Given the description of an element on the screen output the (x, y) to click on. 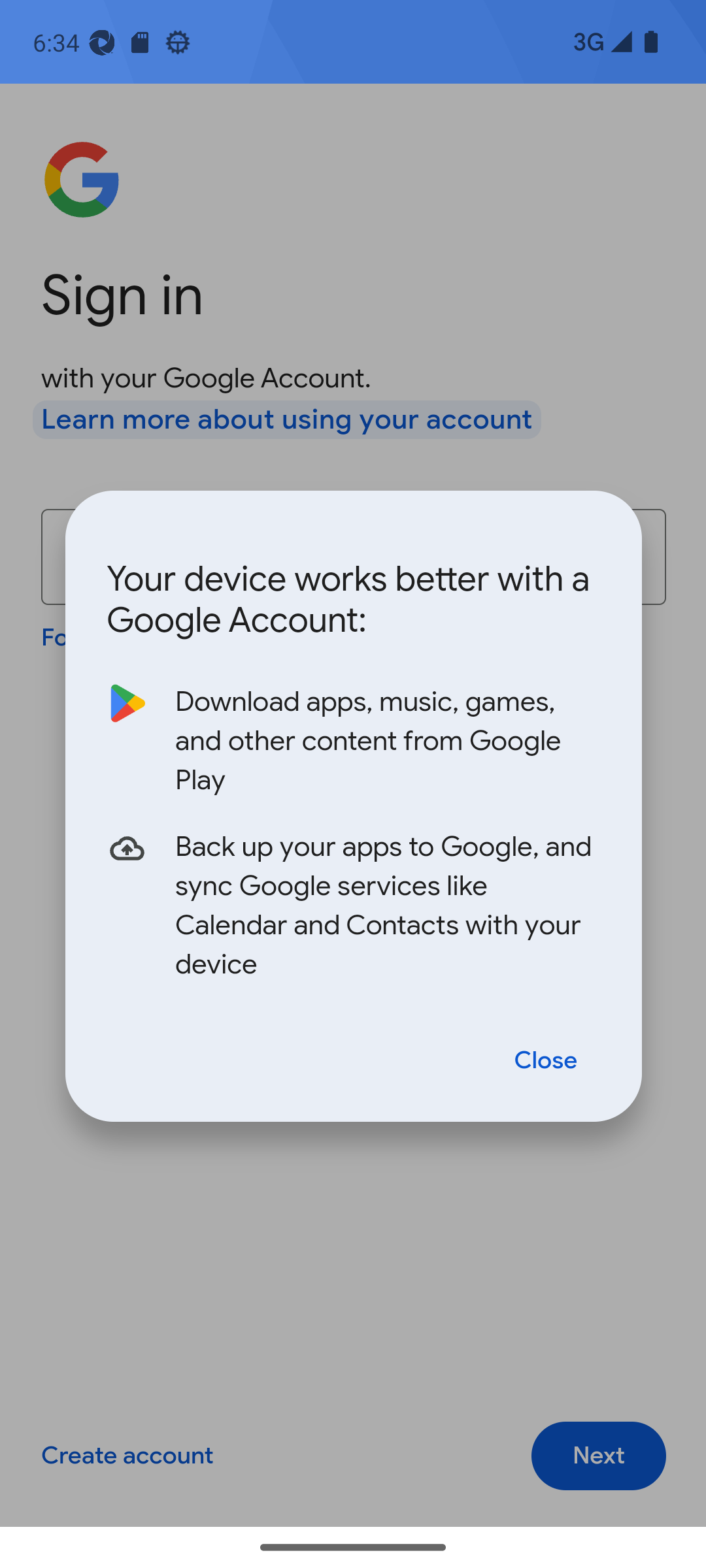
Close (545, 1058)
